Given the description of an element on the screen output the (x, y) to click on. 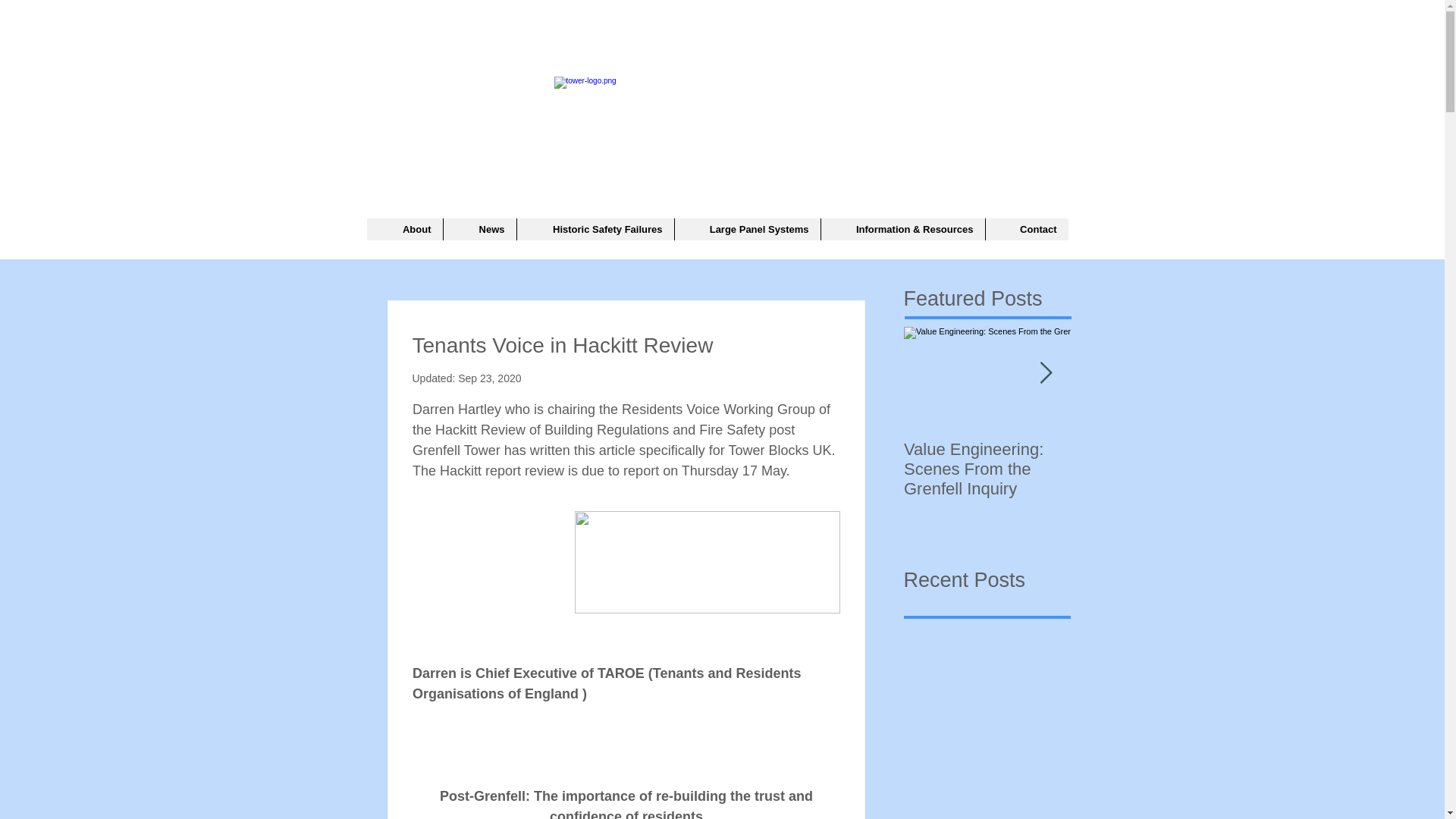
Contact (1025, 229)
About (404, 229)
Grenfell Inquiry Report Coverage (1153, 459)
Large Panel Systems (745, 229)
Historic Safety Failures (593, 229)
Value Engineering: Scenes From the Grenfell Inquiry (987, 468)
Sep 23, 2020 (489, 378)
News (479, 229)
